Given the description of an element on the screen output the (x, y) to click on. 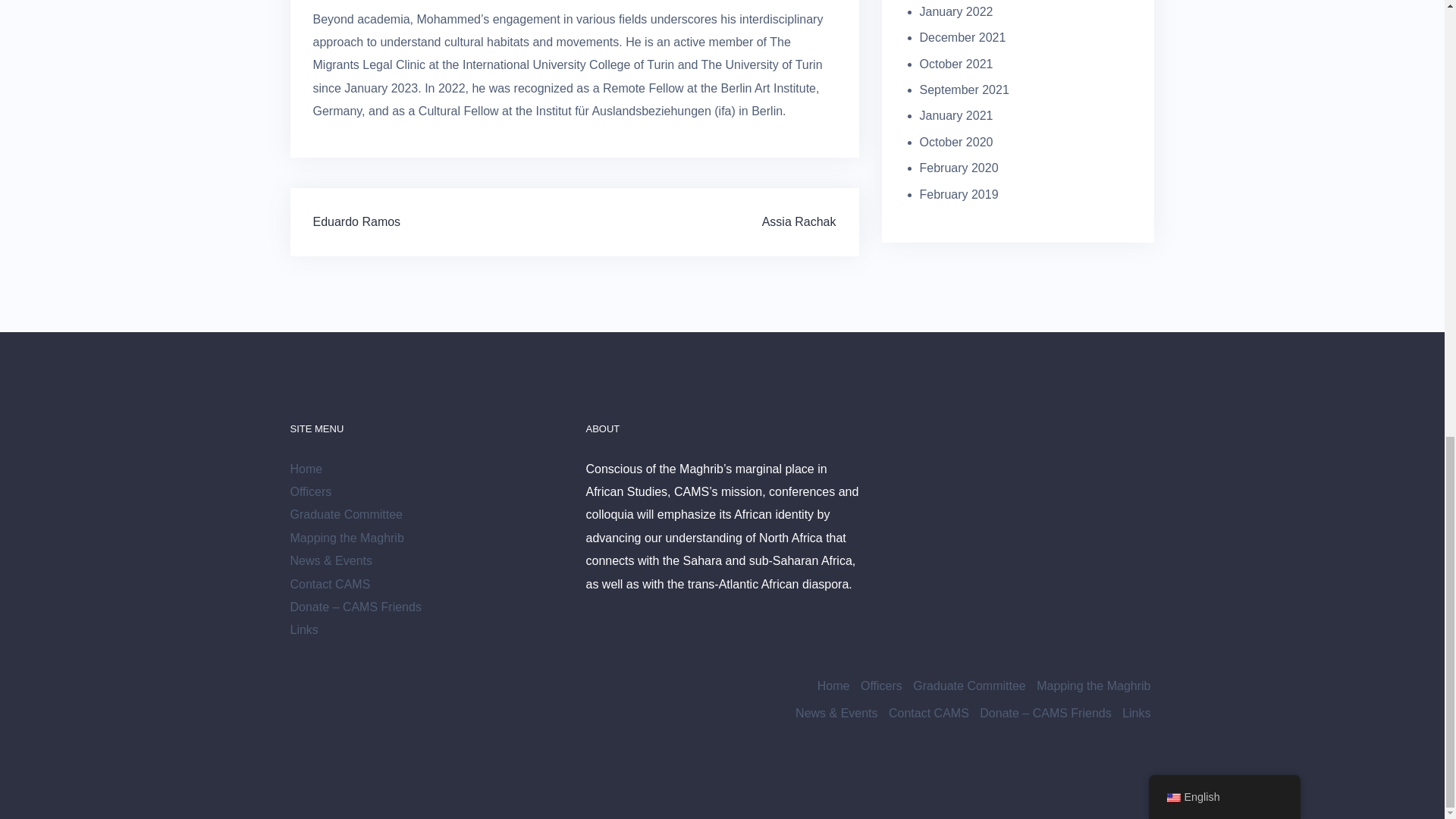
January 2022 (955, 11)
December 2021 (962, 37)
Assia Rachak (798, 221)
Eduardo Ramos (356, 221)
October 2021 (955, 63)
